Given the description of an element on the screen output the (x, y) to click on. 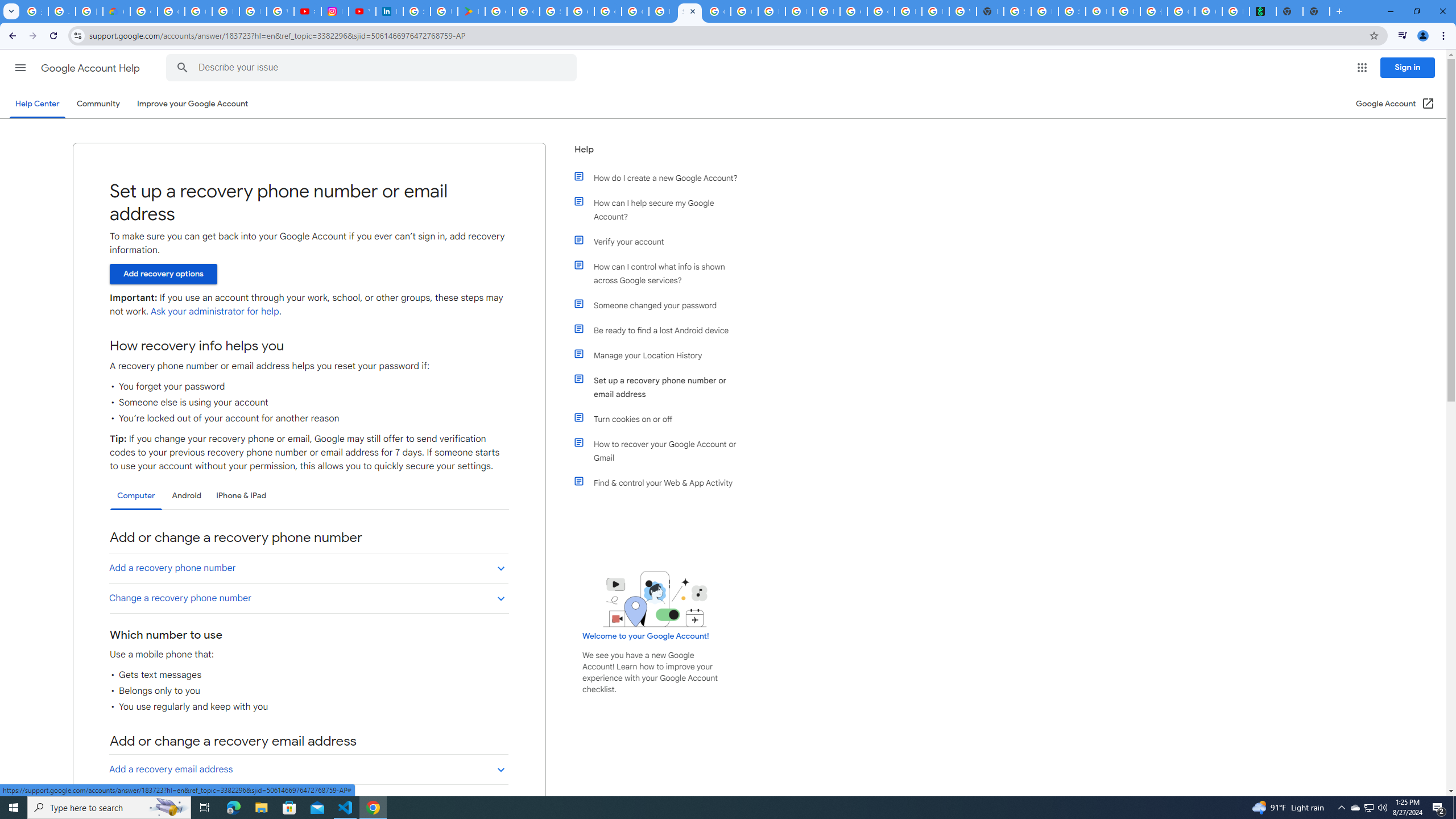
Describe your issue (373, 67)
Privacy Help Center - Policies Help (253, 11)
iPhone & iPad (240, 495)
Google Account (Open in a new window) (1395, 103)
Google Cloud Platform (853, 11)
Change a recovery phone number (308, 598)
